Given the description of an element on the screen output the (x, y) to click on. 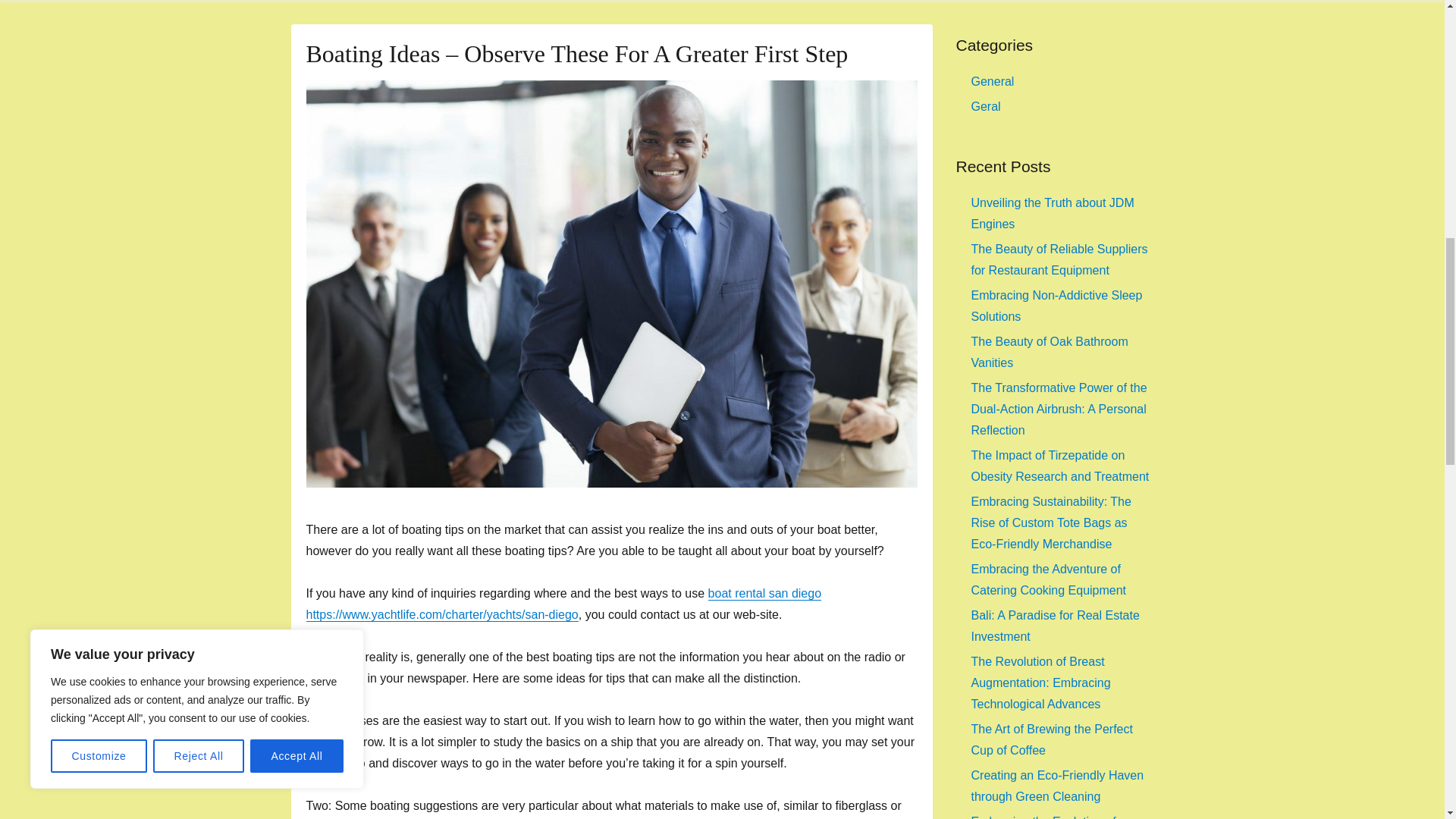
Geral (985, 106)
The Beauty of Oak Bathroom Vanities (1048, 351)
General (992, 81)
Embracing Non-Addictive Sleep Solutions (1056, 305)
The Beauty of Reliable Suppliers for Restaurant Equipment (1059, 259)
Unveiling the Truth about JDM Engines (1052, 213)
